Given the description of an element on the screen output the (x, y) to click on. 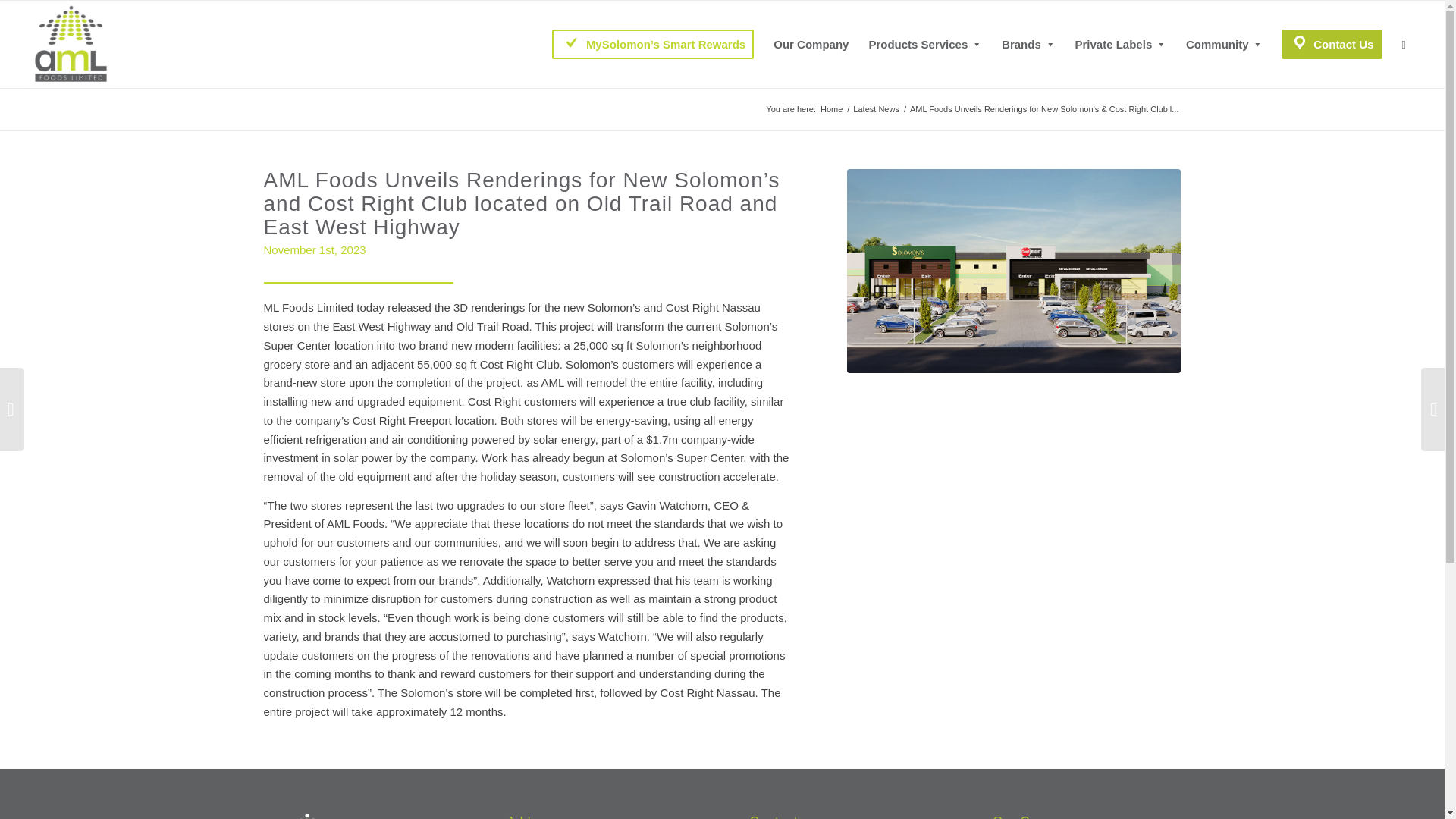
Private Labels (1119, 43)
Latest News (875, 109)
Contact Us (1331, 43)
Our Company (810, 43)
Community (1224, 43)
rendering (1013, 270)
Home (831, 109)
aml-logo (71, 43)
Products Services (925, 43)
AML Foods Ltd. (831, 109)
